Given the description of an element on the screen output the (x, y) to click on. 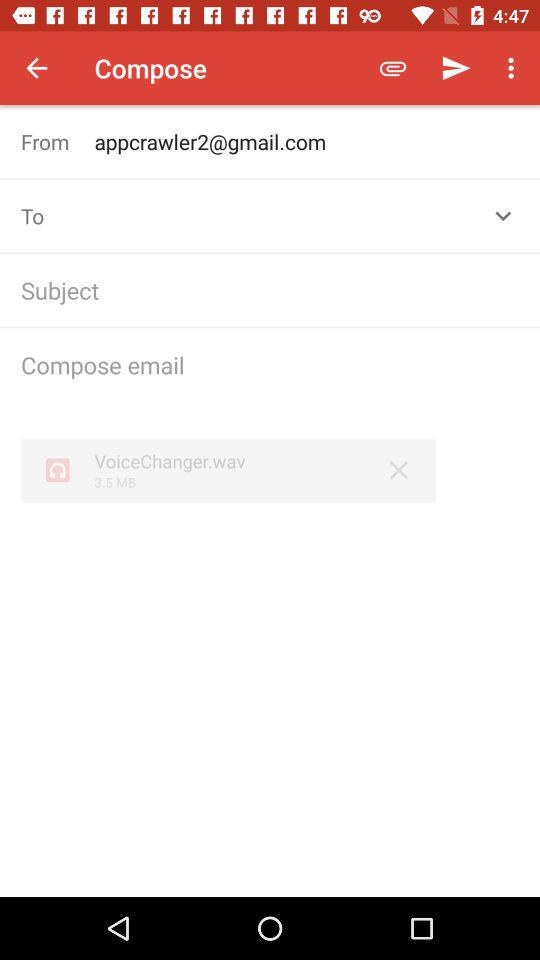
tap the item to the left of the compose (36, 68)
